Given the description of an element on the screen output the (x, y) to click on. 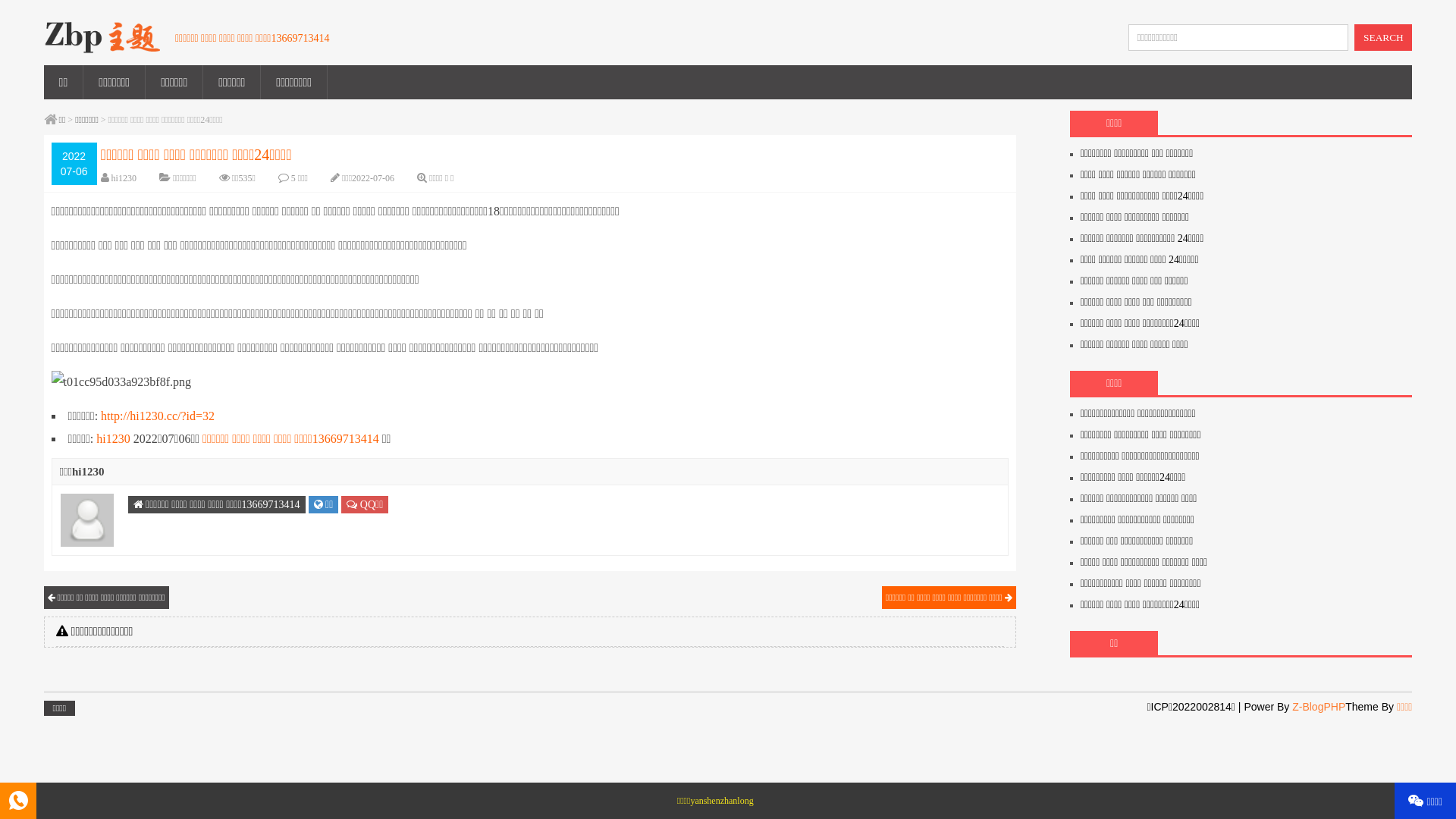
SEARCH Element type: text (1383, 37)
t01cc95d033a923bf8f.png Element type: hover (121, 381)
http://hi1230.cc/?id=32 Element type: text (157, 415)
Z-BlogPHP Element type: text (1318, 706)
hi1230 Element type: text (123, 177)
hi1230 Element type: text (112, 438)
